Given the description of an element on the screen output the (x, y) to click on. 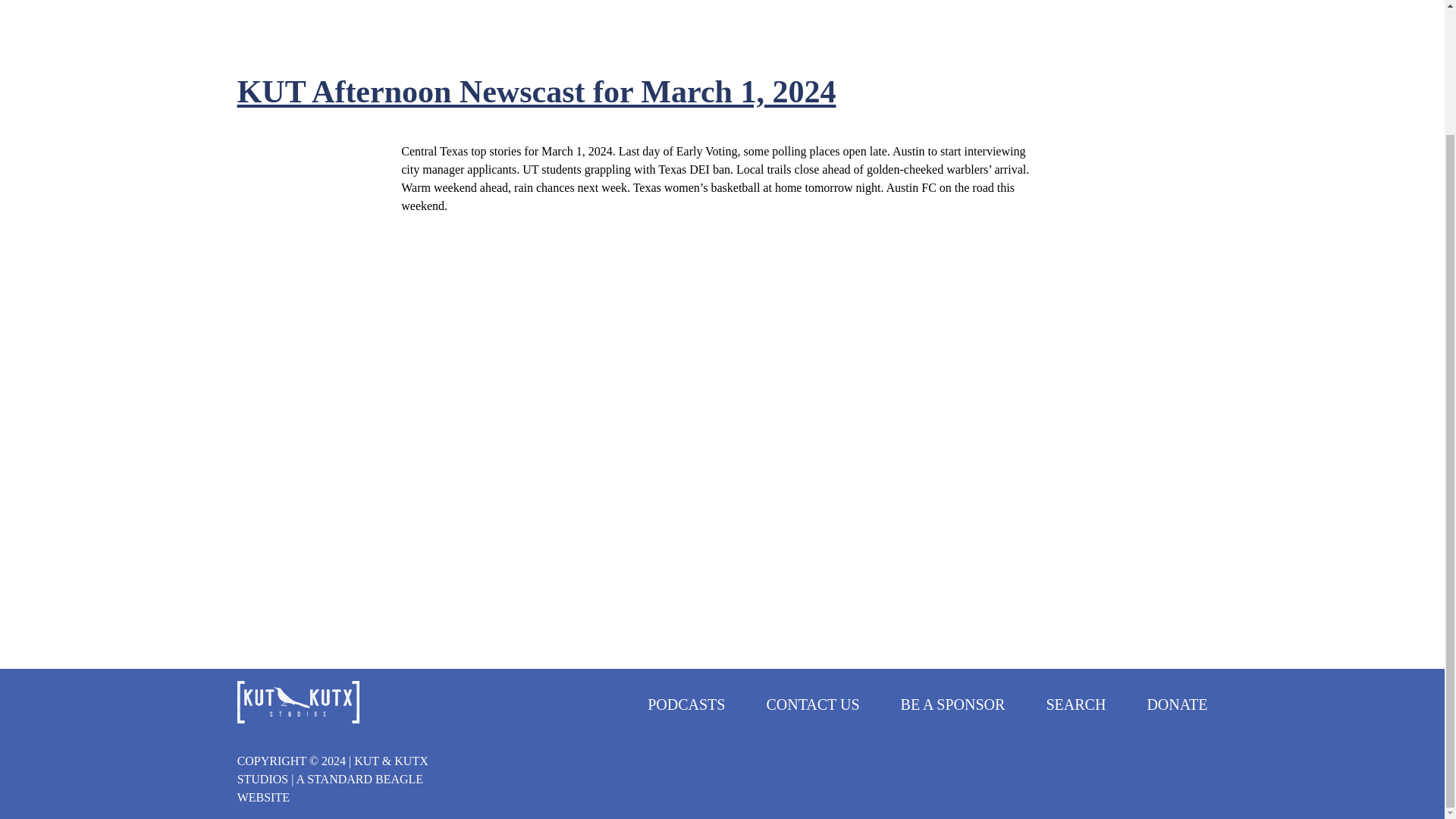
BE A SPONSOR (953, 704)
PODCASTS (686, 704)
CONTACT US (812, 704)
SEARCH (1075, 704)
DONATE (1177, 704)
KUT Afternoon Newscast for March 1, 2024 (536, 91)
